Given the description of an element on the screen output the (x, y) to click on. 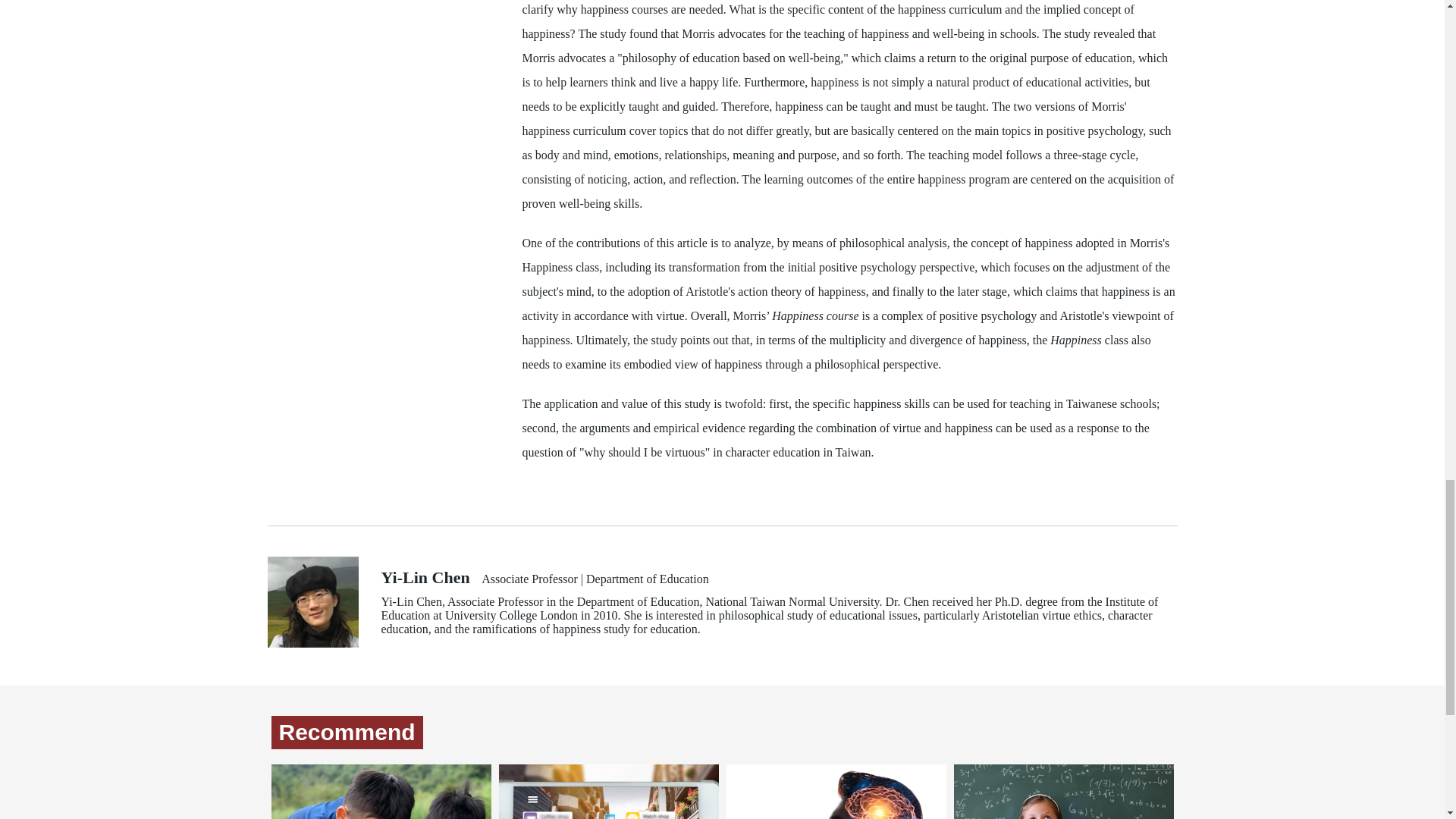
Yi-Lin Chen (424, 578)
